Given the description of an element on the screen output the (x, y) to click on. 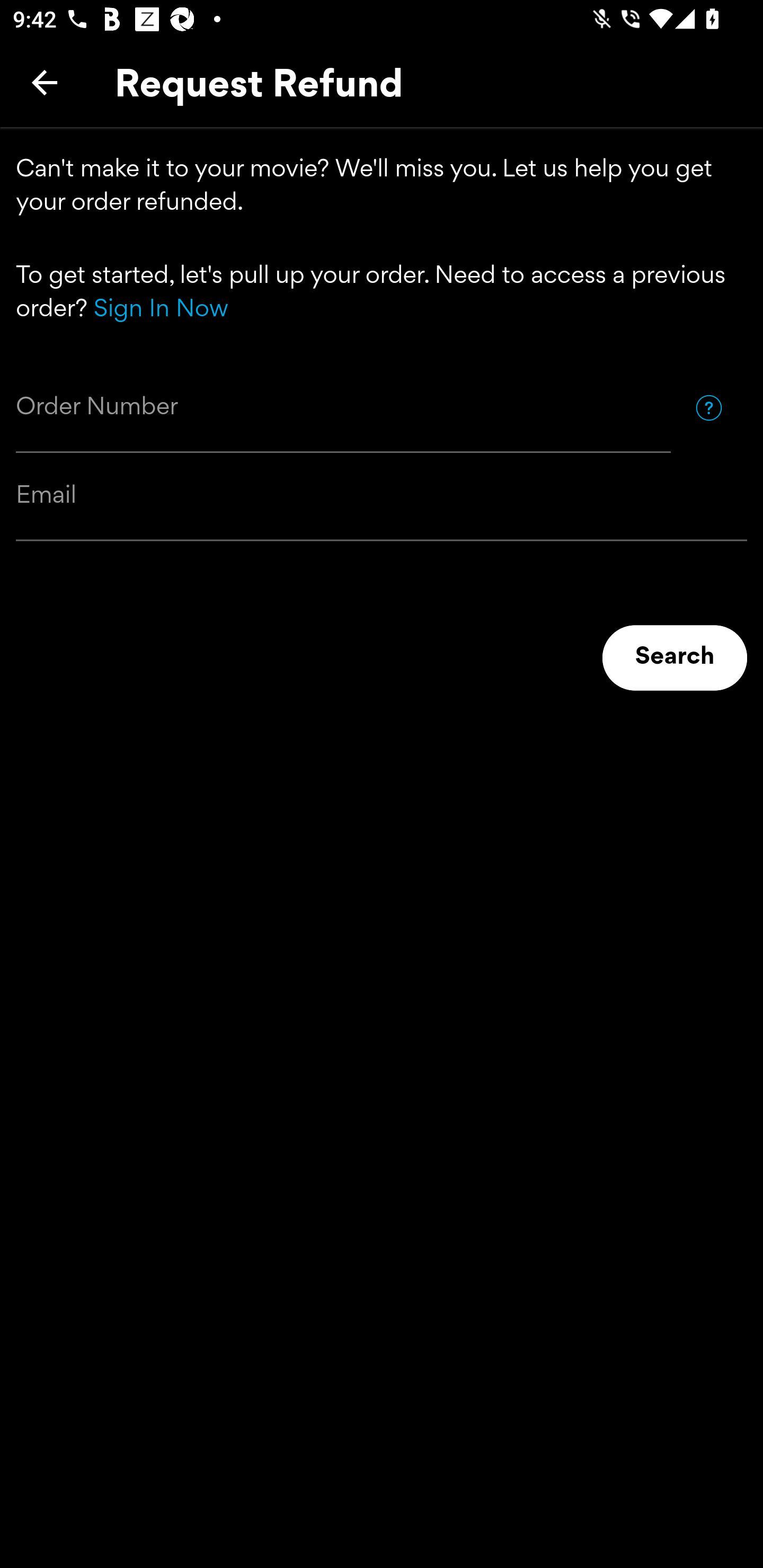
Back (44, 82)
Help (708, 407)
Search (674, 657)
